Given the description of an element on the screen output the (x, y) to click on. 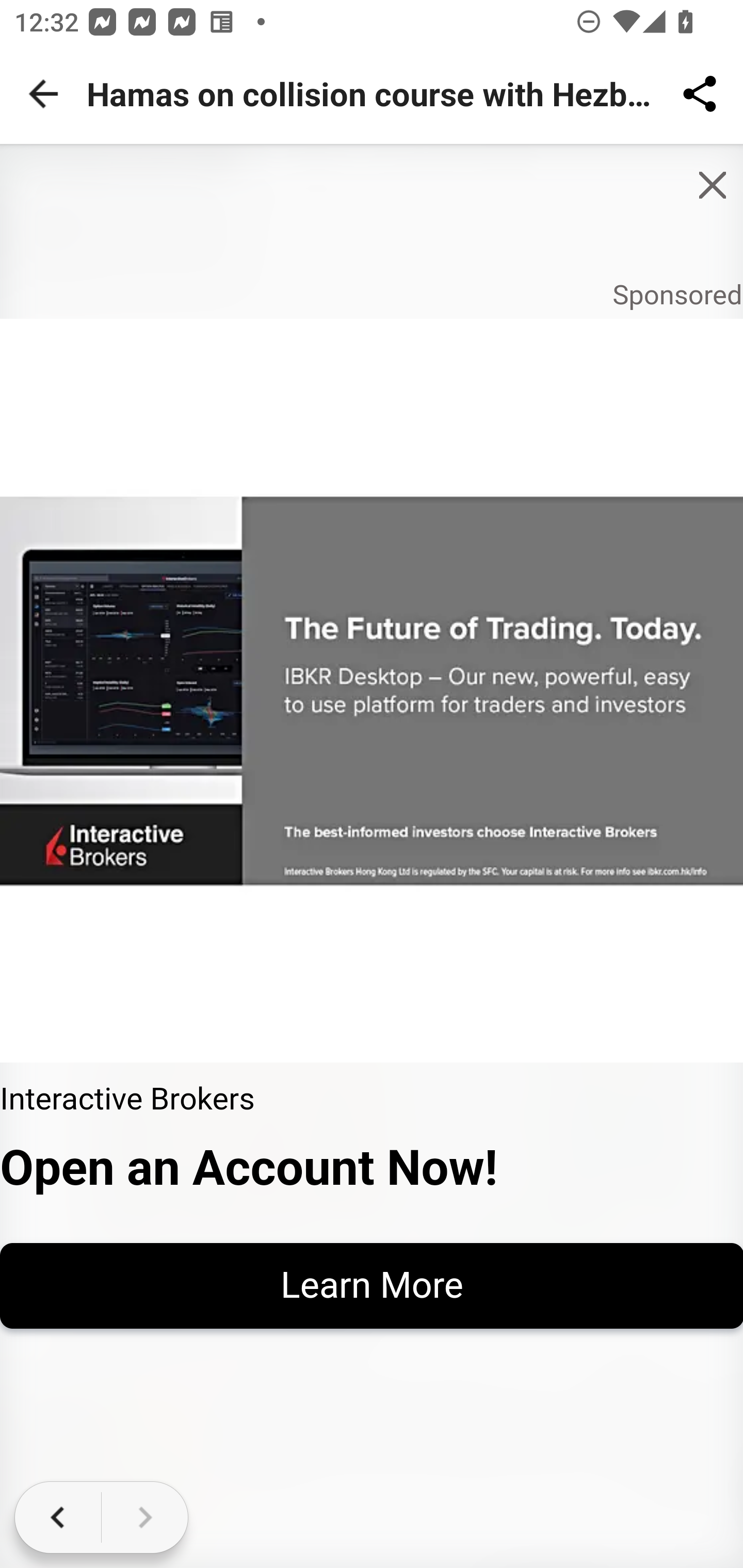
Sponsored (677, 294)
Learn More (371, 1285)
